Given the description of an element on the screen output the (x, y) to click on. 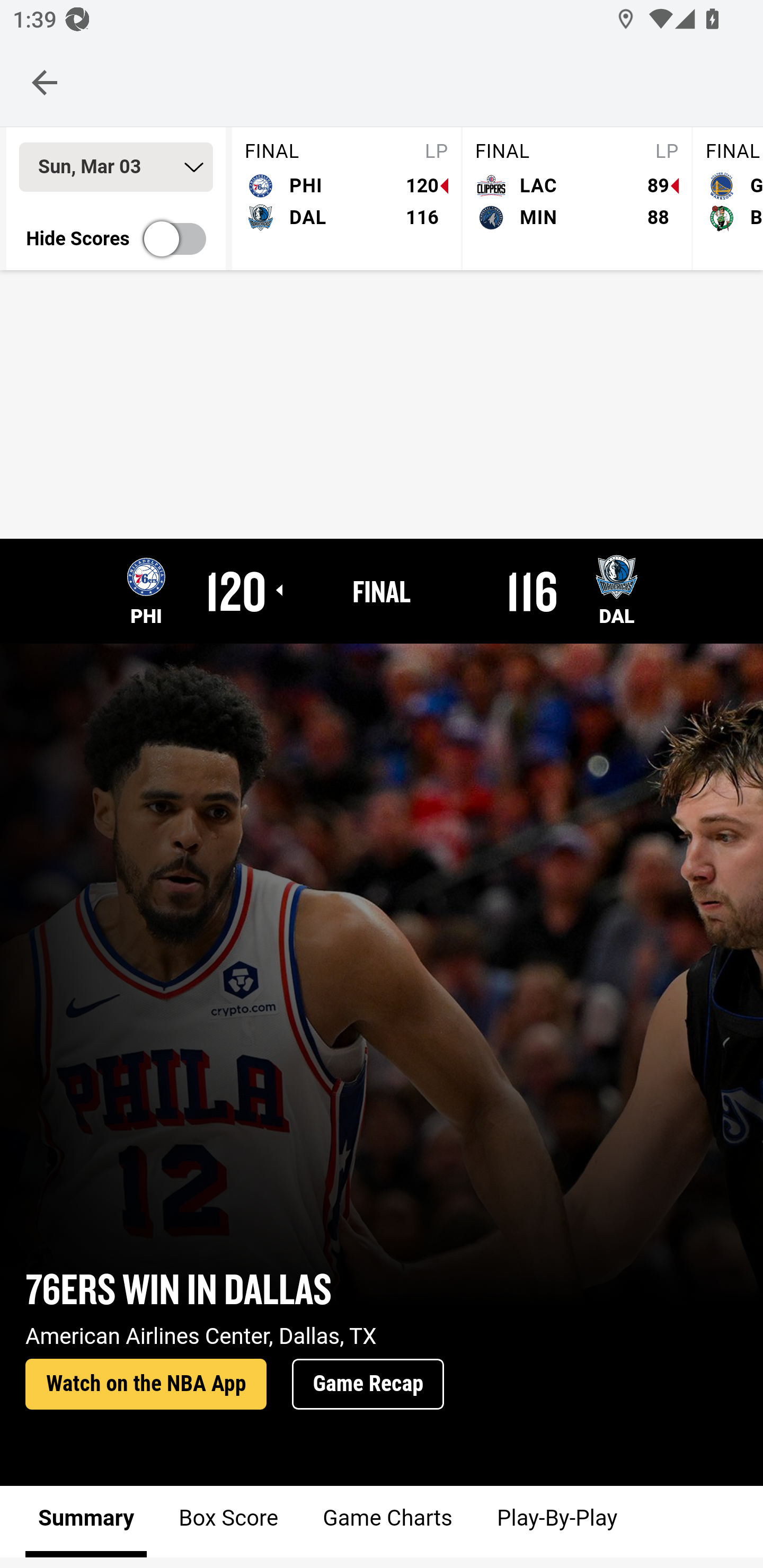
Navigate up (44, 82)
Sun, Mar 03 (115, 166)
Watch on the NBA App (146, 1384)
Game Recap (367, 1384)
Summary Summary Summary (86, 1521)
Box Score Box Score Box Score (228, 1521)
Game Charts Game Charts Game Charts (387, 1521)
Play-By-Play Play-By-Play Play-By-Play (556, 1521)
